Given the description of an element on the screen output the (x, y) to click on. 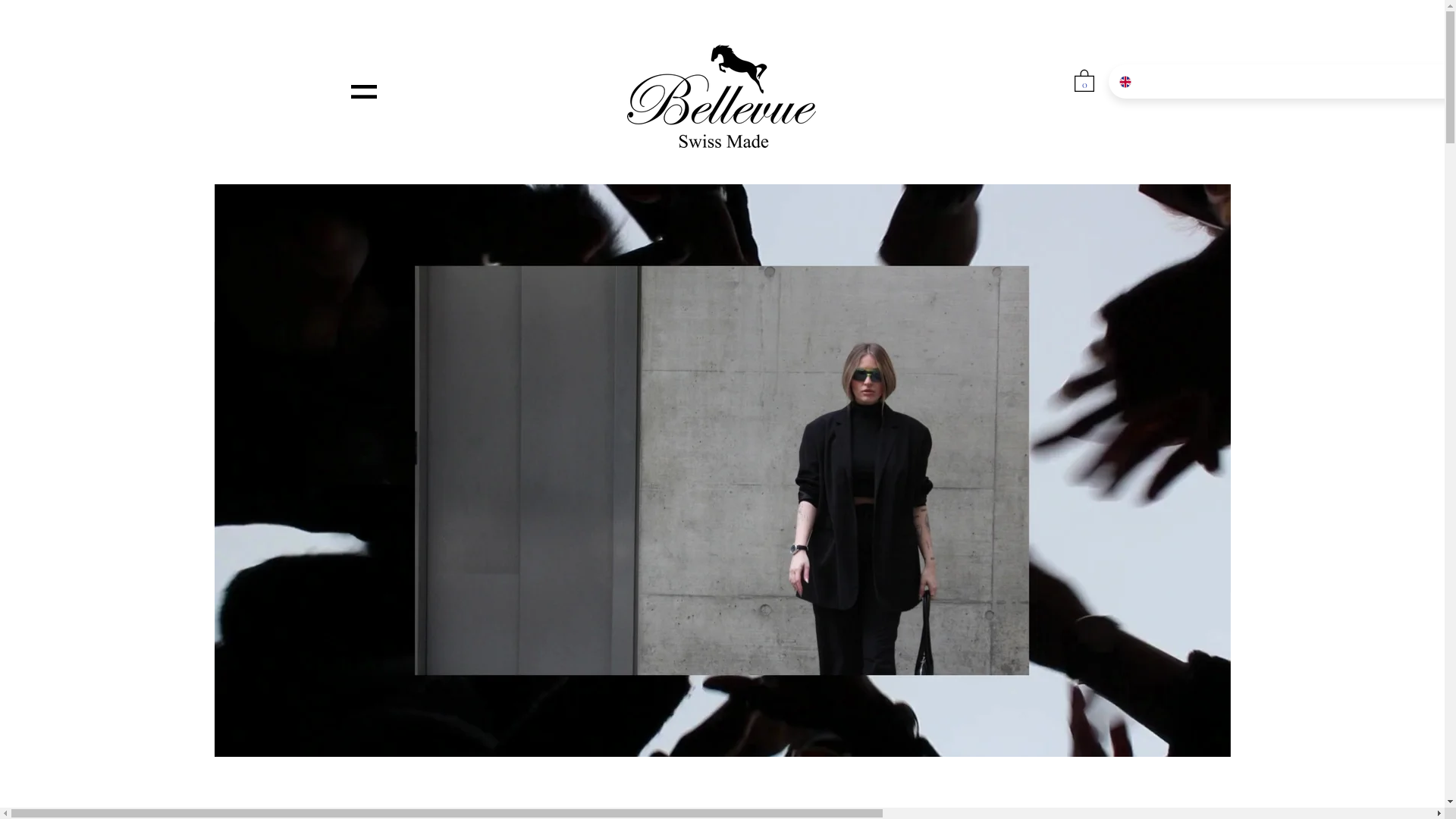
0 Element type: text (1083, 79)
Online Store Element type: hover (1404, 767)
